Given the description of an element on the screen output the (x, y) to click on. 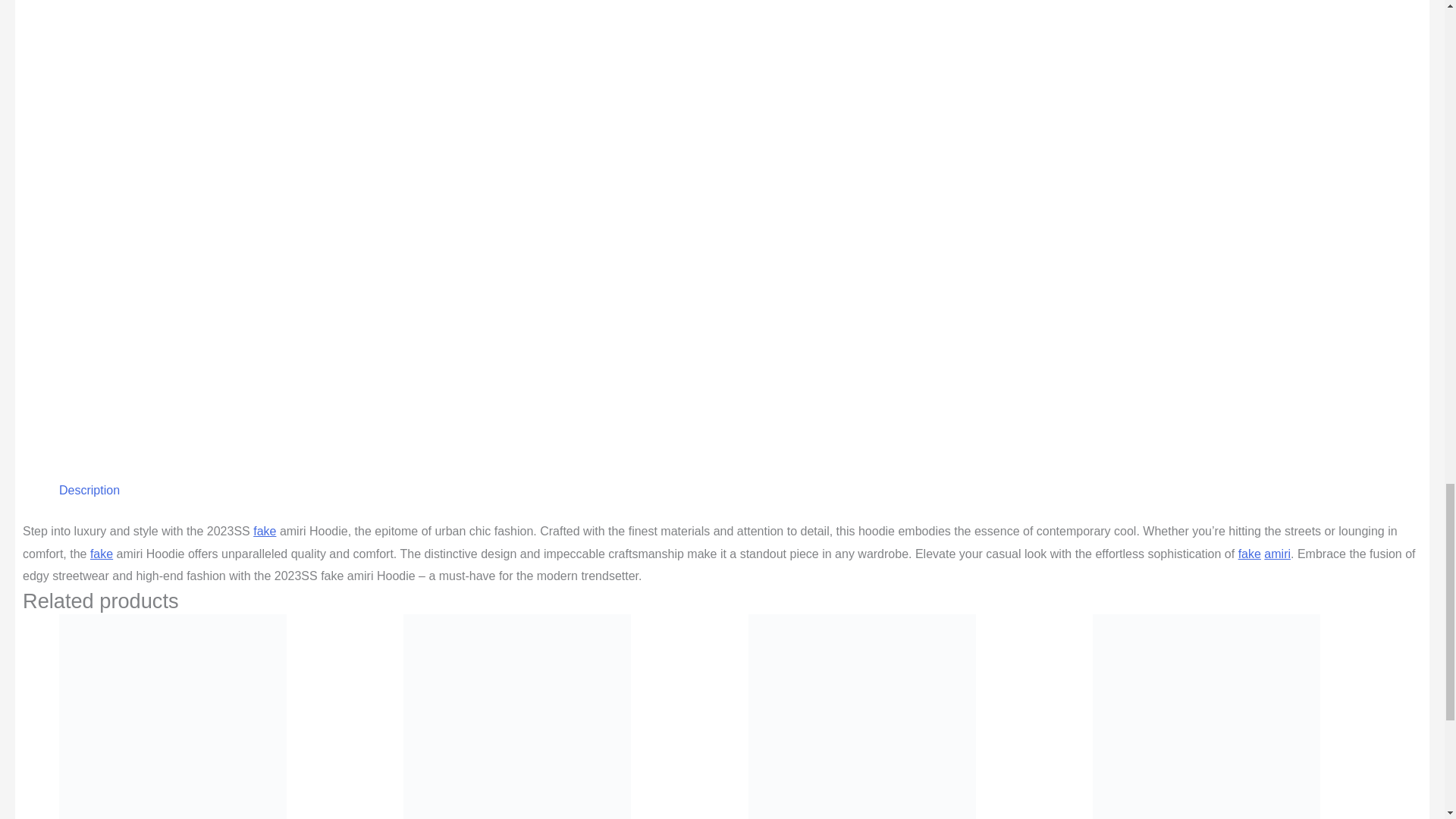
fake (264, 530)
Description (89, 490)
amiri (1276, 553)
fake (101, 553)
amiri (1276, 553)
fake (1249, 553)
